Given the description of an element on the screen output the (x, y) to click on. 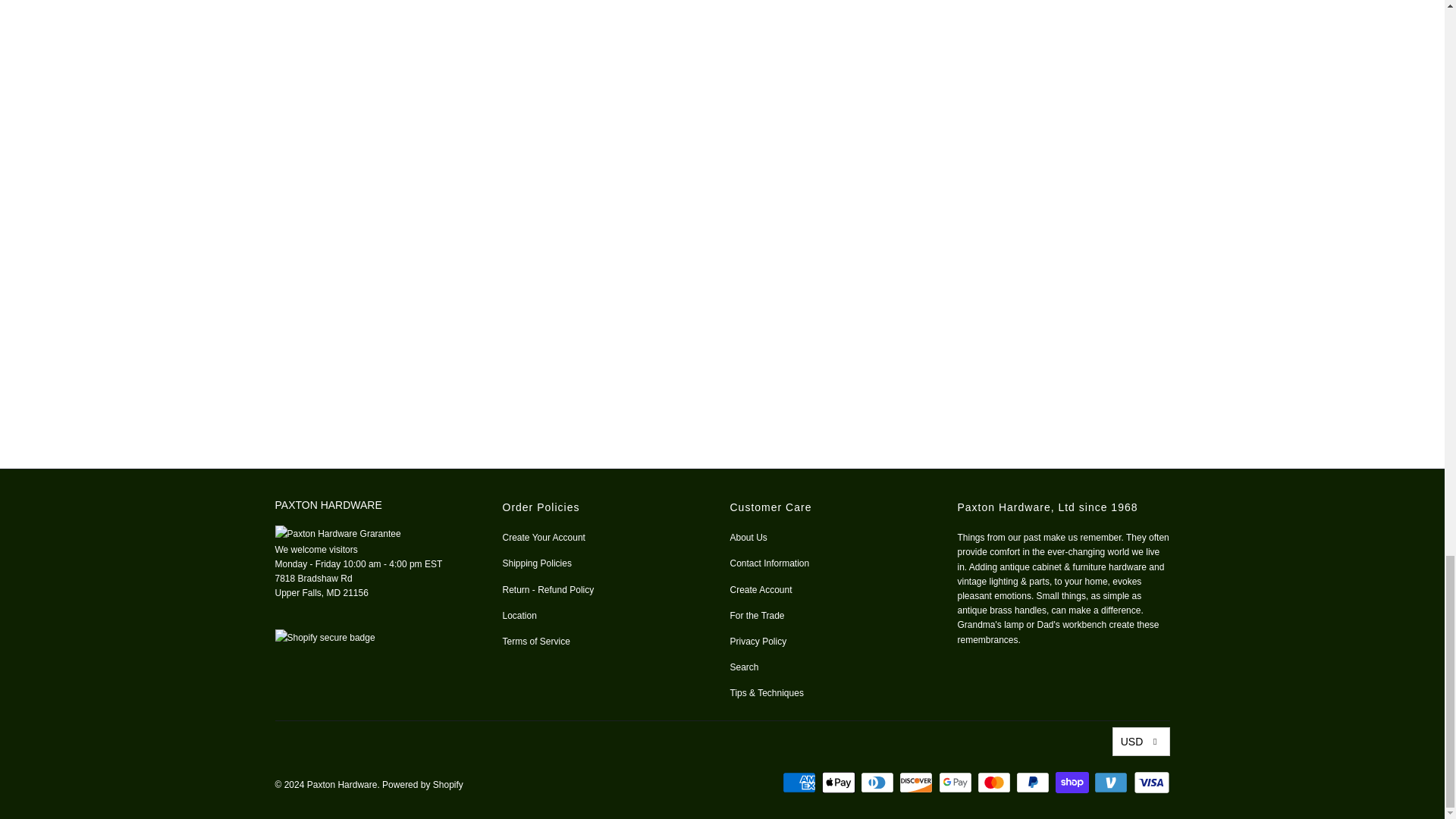
Mastercard (994, 782)
Apple Pay (840, 782)
Shop Pay (1073, 782)
American Express (800, 782)
This online store is secured by Shopify (324, 637)
Google Pay (957, 782)
PayPal (1034, 782)
Visa (1150, 782)
Venmo (1112, 782)
Diners Club (878, 782)
